Given the description of an element on the screen output the (x, y) to click on. 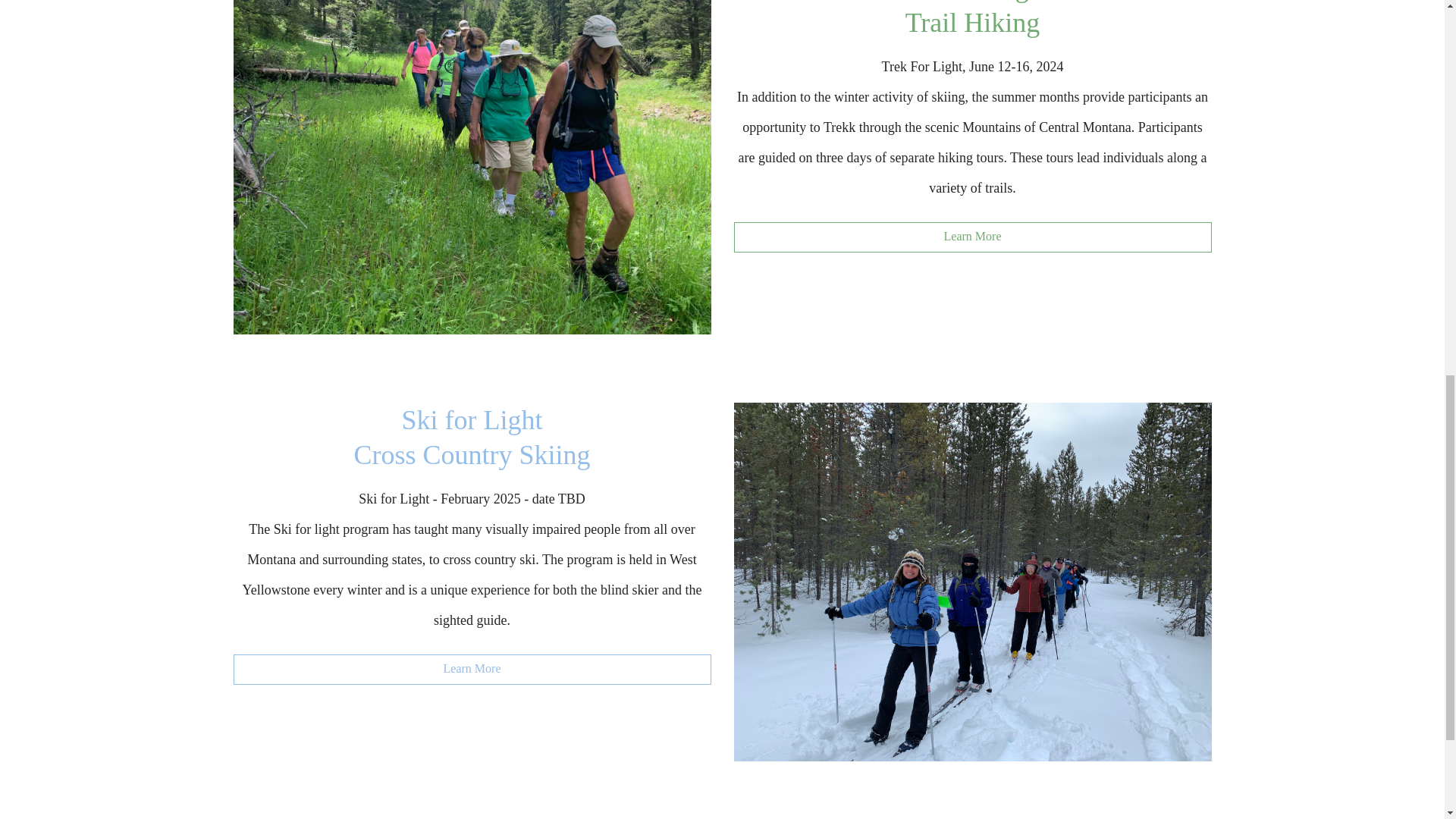
Learn More (471, 669)
Learn More (972, 236)
